Given the description of an element on the screen output the (x, y) to click on. 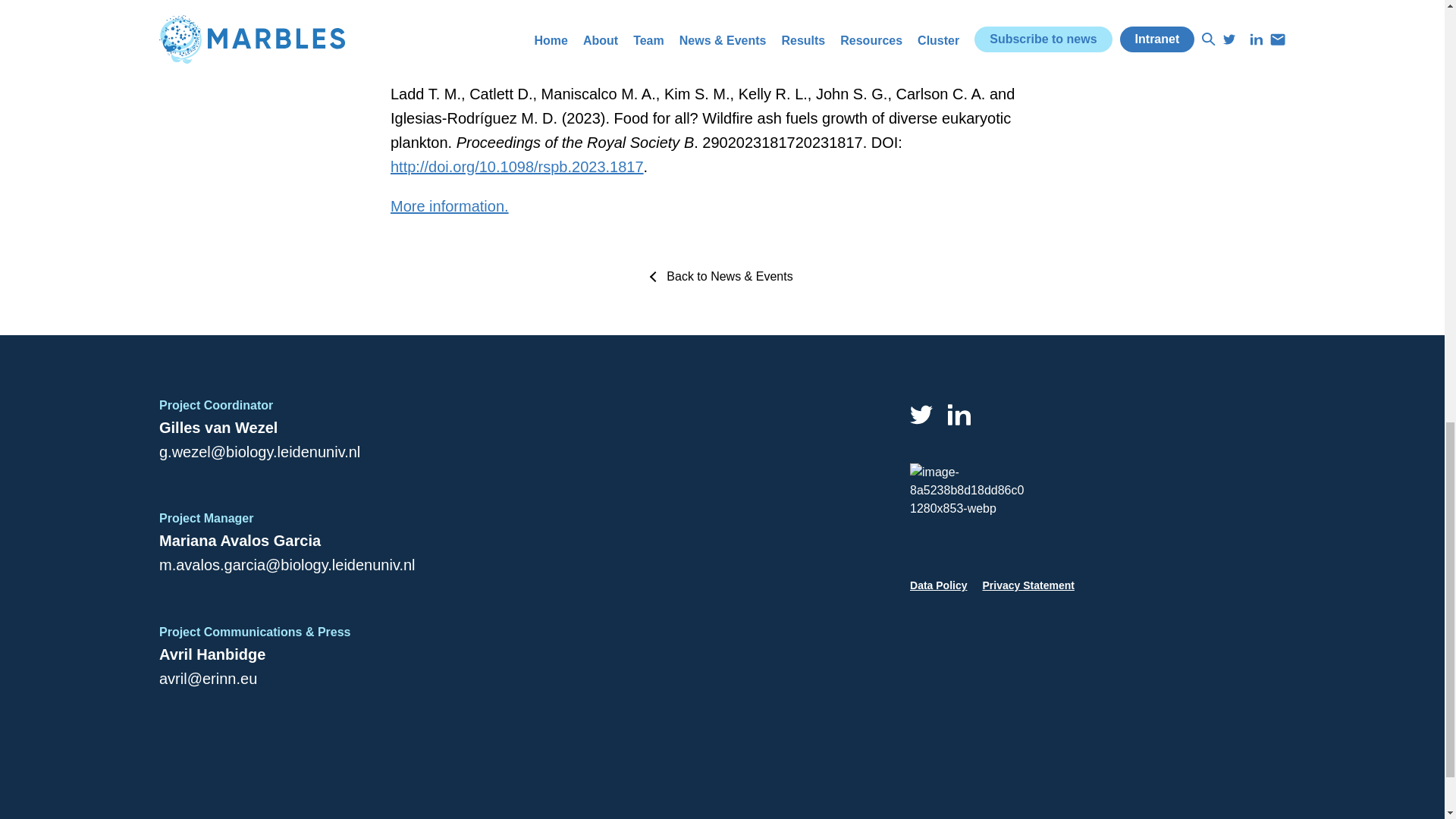
More information. (449, 206)
Data Policy (938, 585)
Linked In (959, 413)
Privacy Statement (1028, 585)
Twitter (921, 413)
